Given the description of an element on the screen output the (x, y) to click on. 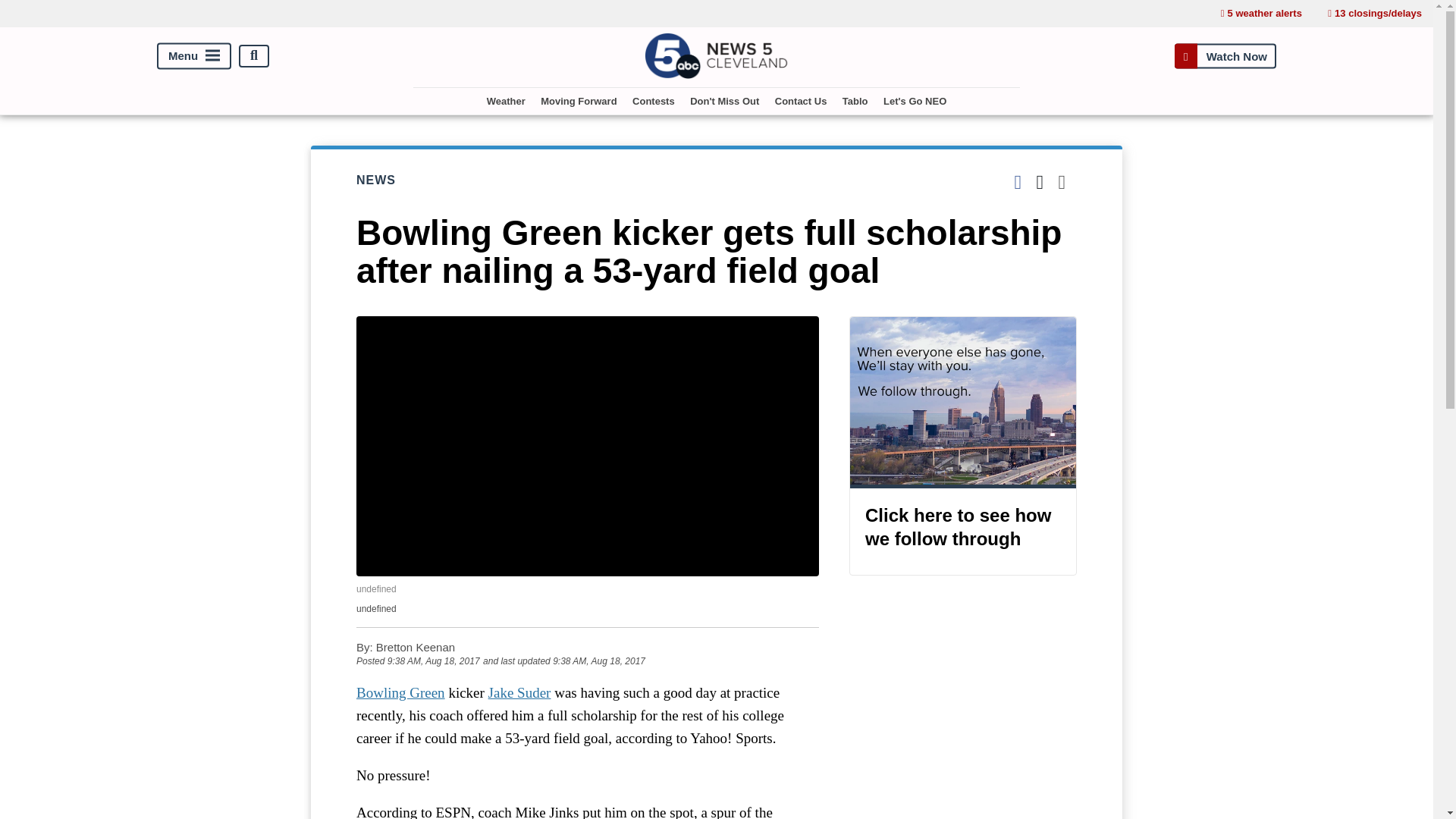
Menu (194, 55)
5 weather alerts (1261, 13)
Watch Now (1224, 55)
